Given the description of an element on the screen output the (x, y) to click on. 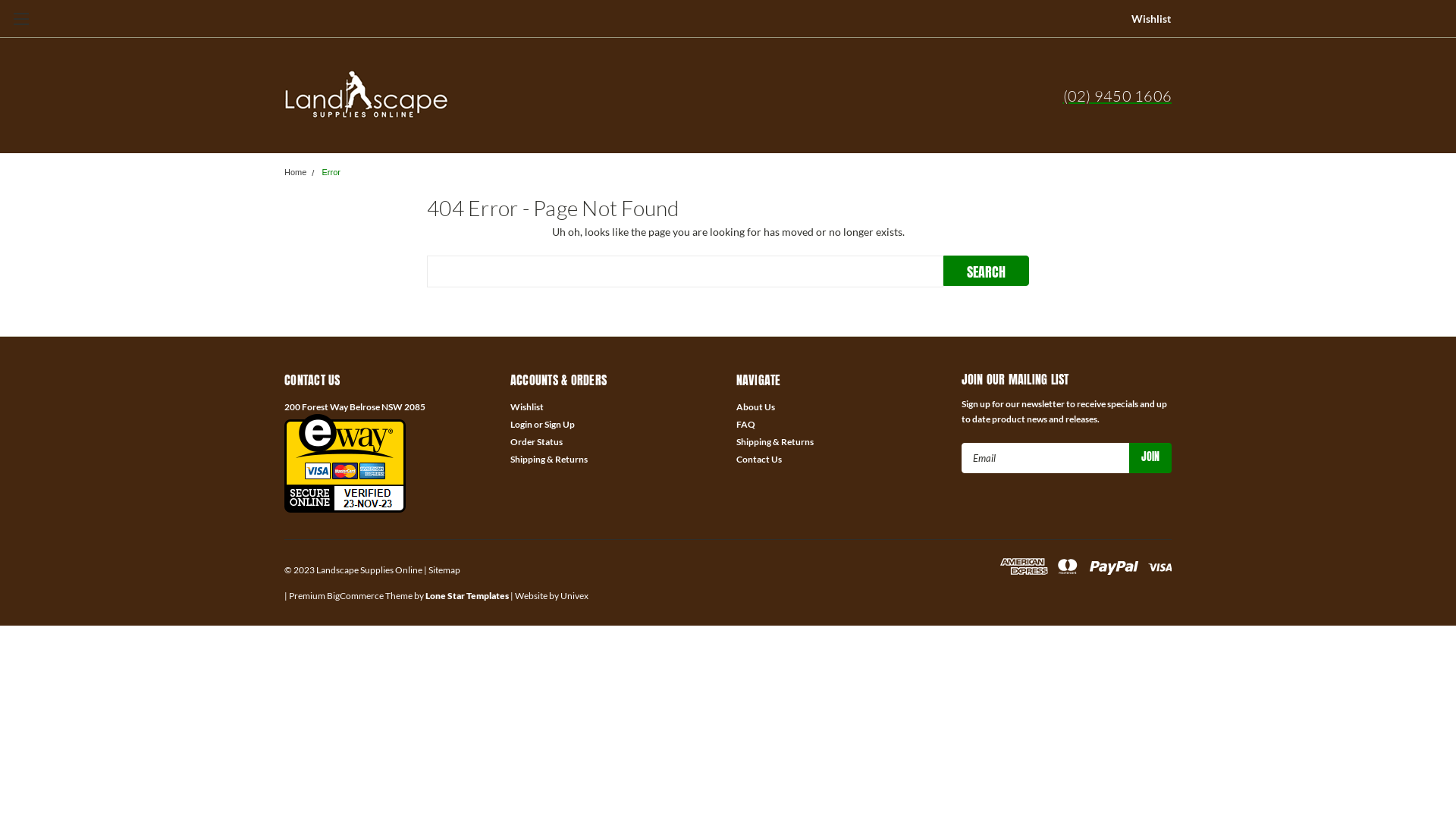
Landscape Supplies Online Element type: hover (367, 95)
Shipping & Returns Element type: text (773, 441)
(02) 9450 1606 Element type: text (1117, 95)
Login Element type: text (521, 424)
Search Element type: text (986, 270)
Shipping & Returns Element type: text (548, 459)
Wishlist Element type: text (526, 407)
Order Status Element type: text (536, 441)
Home Element type: text (295, 171)
eWAY Payment Gateway Element type: hover (344, 462)
FAQ Element type: text (744, 424)
Error Element type: text (330, 171)
Website by Univex Element type: text (551, 595)
Join Element type: text (1150, 457)
| Sitemap Element type: text (441, 569)
Contact Us Element type: text (758, 459)
Wishlist Element type: text (1150, 18)
Sign Up Element type: text (559, 424)
BigCommerce Element type: text (354, 595)
Lone Star Templates Element type: text (466, 595)
About Us Element type: text (754, 407)
